Given the description of an element on the screen output the (x, y) to click on. 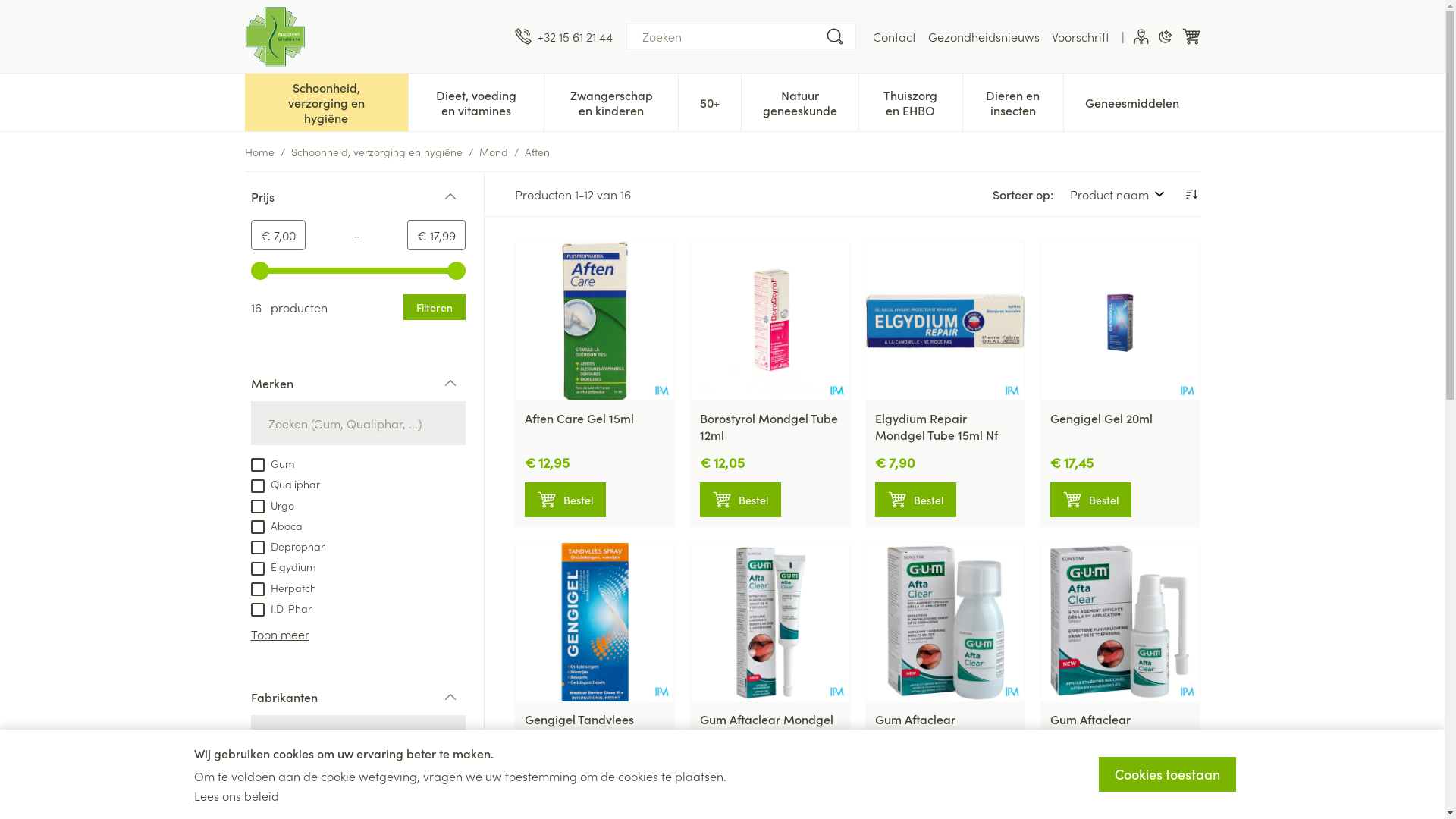
on Element type: text (256, 485)
Gum Aftaclear Mondspoeling 120ml Element type: text (931, 726)
Filteren Element type: text (434, 307)
Aften Care Gel 15ml Element type: hover (594, 320)
on Element type: text (256, 506)
Gum Aftaclear Mondspray 15ml Element type: text (1095, 726)
Gengigel Tandvlees Spray 20ml Element type: hover (594, 621)
Toon meer Element type: text (279, 633)
Bestel Element type: text (915, 800)
Herpatch Element type: text (282, 586)
Borostyrol Mondgel Tube 12ml Element type: hover (769, 320)
+32 15 61 21 44 Element type: text (562, 36)
Aften Care Gel 15ml Element type: text (578, 417)
on Element type: text (256, 568)
on Element type: text (256, 589)
Gengigel Gel 20ml Element type: hover (1119, 320)
Geneesmiddelen Element type: text (1131, 100)
Apotheek Ghekiere Element type: hover (373, 36)
50+ Element type: text (709, 100)
on Element type: text (256, 609)
Aboca Element type: text (275, 524)
Dieren en insecten Element type: text (1013, 100)
Zoeken Element type: text (834, 36)
Gum Aftaclear Mondspray 15ml Element type: hover (1119, 621)
on Element type: text (256, 526)
on Element type: text (256, 547)
Bestel Element type: text (564, 800)
Gum Aftaclear Mondgel 10ml Element type: text (765, 726)
Bestel Element type: text (739, 800)
Thuiszorg en EHBO Element type: text (910, 100)
Zwangerschap en kinderen Element type: text (610, 100)
Apotheek Ghekiere Element type: hover (274, 36)
Borostyrol Mondgel Tube 12ml Element type: text (768, 425)
Bestel Element type: text (915, 499)
Sunstar Benelux BV. Element type: text (307, 776)
Gengigel Gel 20ml Element type: text (1100, 417)
Bestel Element type: text (1089, 499)
Lees ons beleid Element type: text (236, 795)
Home Element type: text (258, 151)
Contact Element type: text (893, 36)
Voorschrift Element type: text (1079, 36)
Bestel Element type: text (739, 499)
Gengigel Tandvlees Spray 20ml Element type: text (578, 726)
Elgydium Repair Mondgel Tube 15ml Nf Element type: text (936, 425)
Mond Element type: text (493, 151)
Aflopende richting instellen Element type: hover (1190, 193)
Bestel Element type: text (1089, 800)
Gezondheidsnieuws Element type: text (983, 36)
Cookies toestaan Element type: text (1166, 773)
Donkere modus Element type: text (1164, 35)
Qualiphar Element type: text (284, 482)
Winkelwagen Element type: text (1190, 36)
on Element type: text (256, 778)
I.D. Phar Element type: text (280, 607)
on Element type: text (256, 799)
Natuur geneeskunde Element type: text (799, 100)
Elgydium Element type: text (282, 565)
Klant menu Element type: text (1140, 35)
Urgo Element type: text (271, 503)
Deprophar Element type: text (286, 544)
Gum Aftaclear Mondspoeling 120ml Element type: hover (945, 621)
Gum Element type: text (272, 462)
on Element type: text (256, 464)
Elgydium Repair Mondgel Tube 15ml Nf Element type: hover (945, 320)
Gum Aftaclear Mondgel 10ml Element type: hover (769, 621)
Dieet, voeding en vitamines Element type: text (475, 100)
Bestel Element type: text (564, 499)
Qualiphar Element type: text (284, 796)
